Given the description of an element on the screen output the (x, y) to click on. 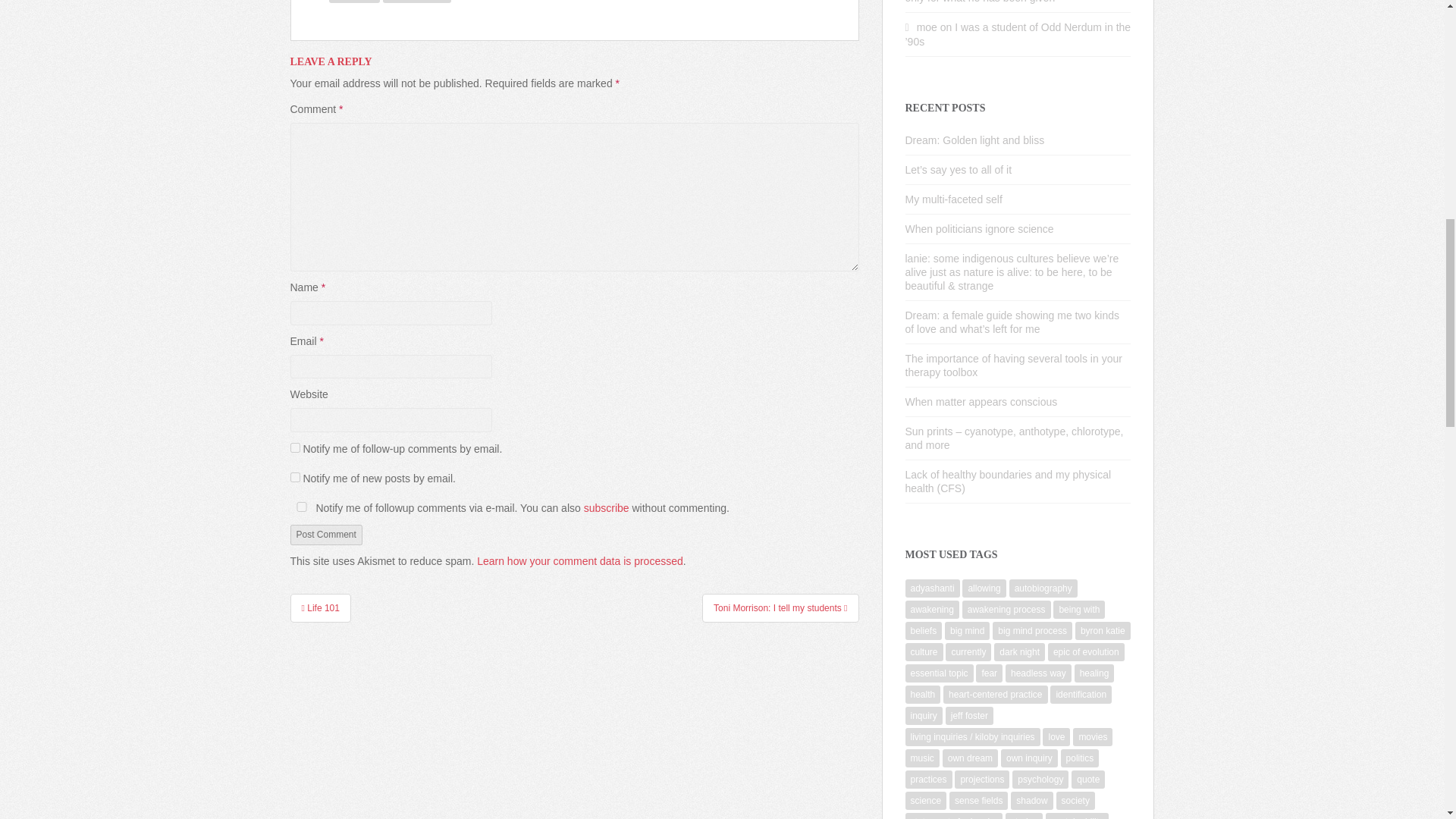
subscribe (294, 447)
yes (301, 506)
Post Comment (325, 534)
subscribe (294, 477)
